Given the description of an element on the screen output the (x, y) to click on. 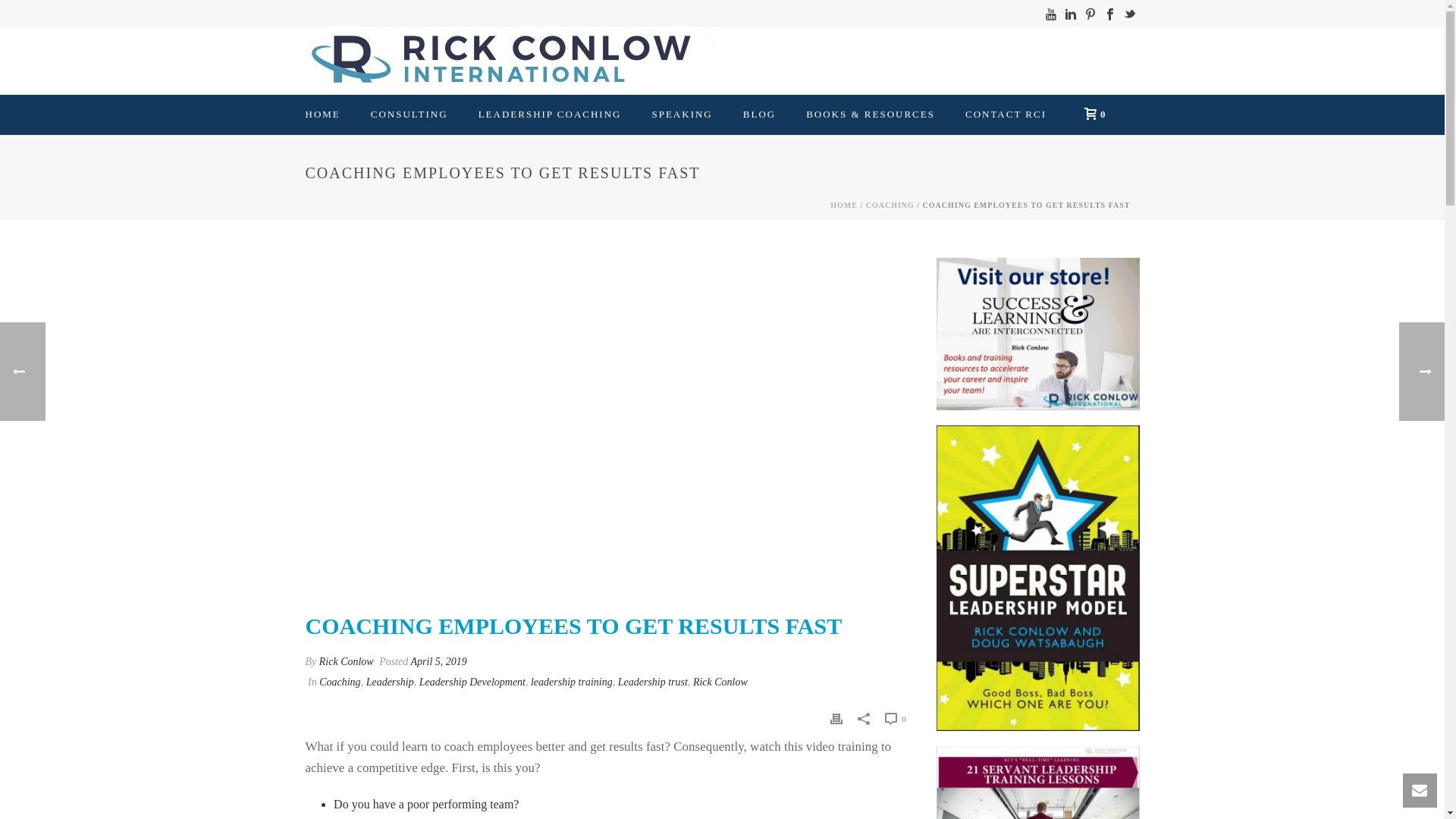
BLOG (759, 115)
CONTACT RCI (1005, 115)
0 (1090, 113)
CONTACT RCI (1005, 115)
LEADERSHIP COACHING (550, 115)
SPEAKING (681, 115)
SPEAKING (681, 115)
Posts by Rick Conlow (346, 661)
HOME (843, 204)
HOME (322, 115)
